Given the description of an element on the screen output the (x, y) to click on. 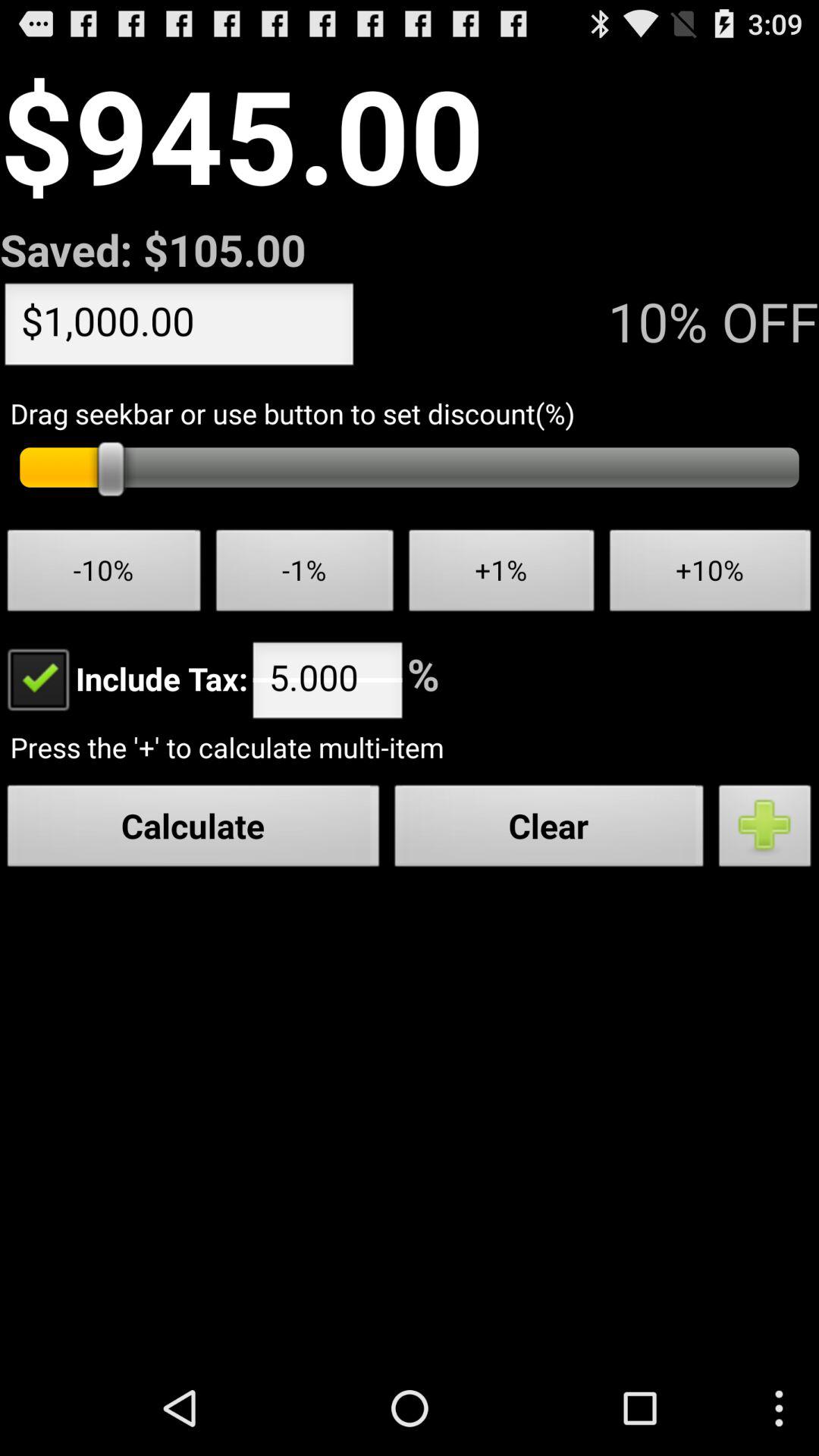
turn on clear item (549, 830)
